Given the description of an element on the screen output the (x, y) to click on. 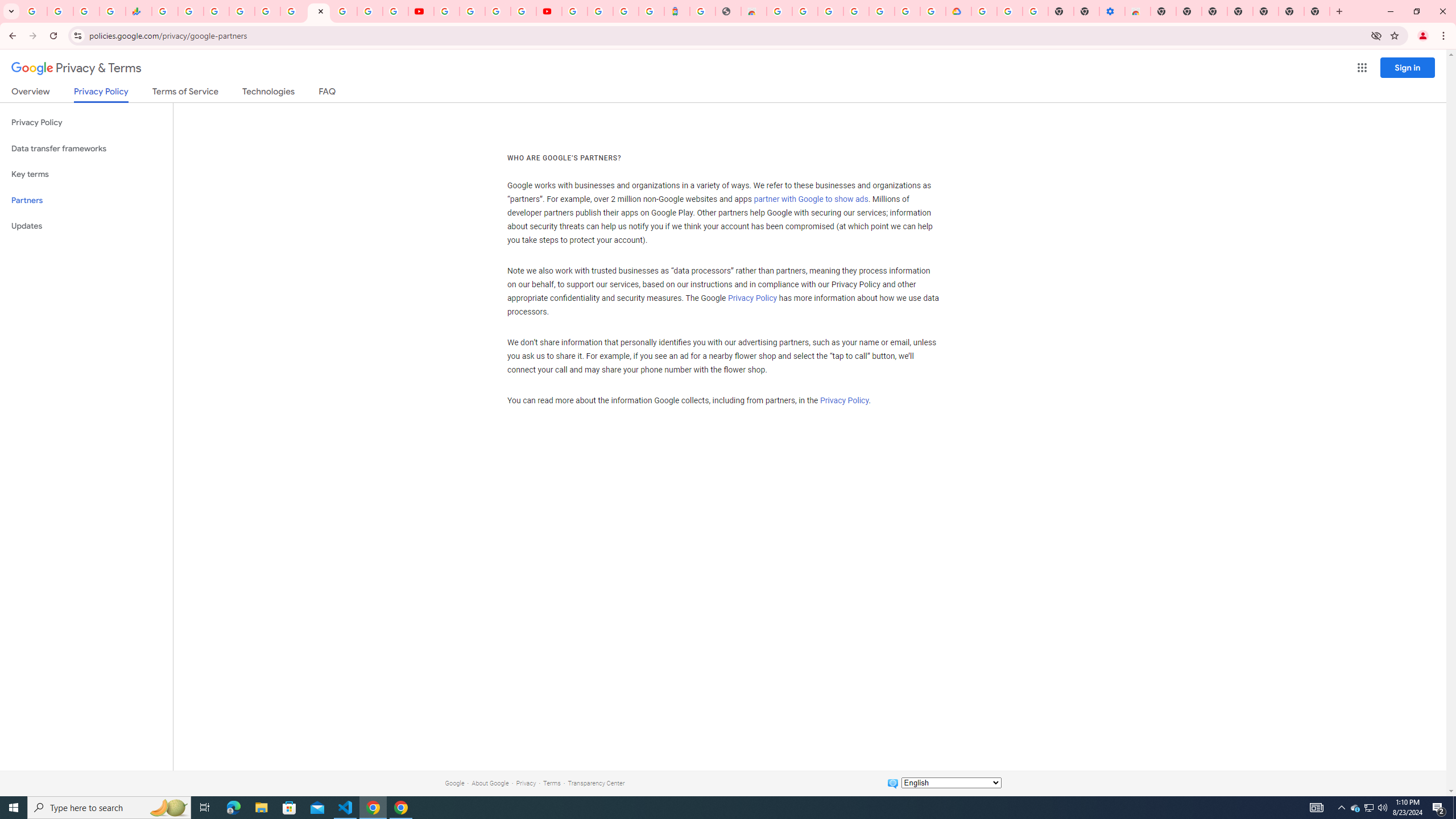
Settings - Accessibility (1111, 11)
Google Account Help (1009, 11)
Sign in - Google Accounts (600, 11)
Sign in - Google Accounts (830, 11)
Chrome Web Store - Accessibility extensions (1137, 11)
Chrome Web Store - Household (753, 11)
